Given the description of an element on the screen output the (x, y) to click on. 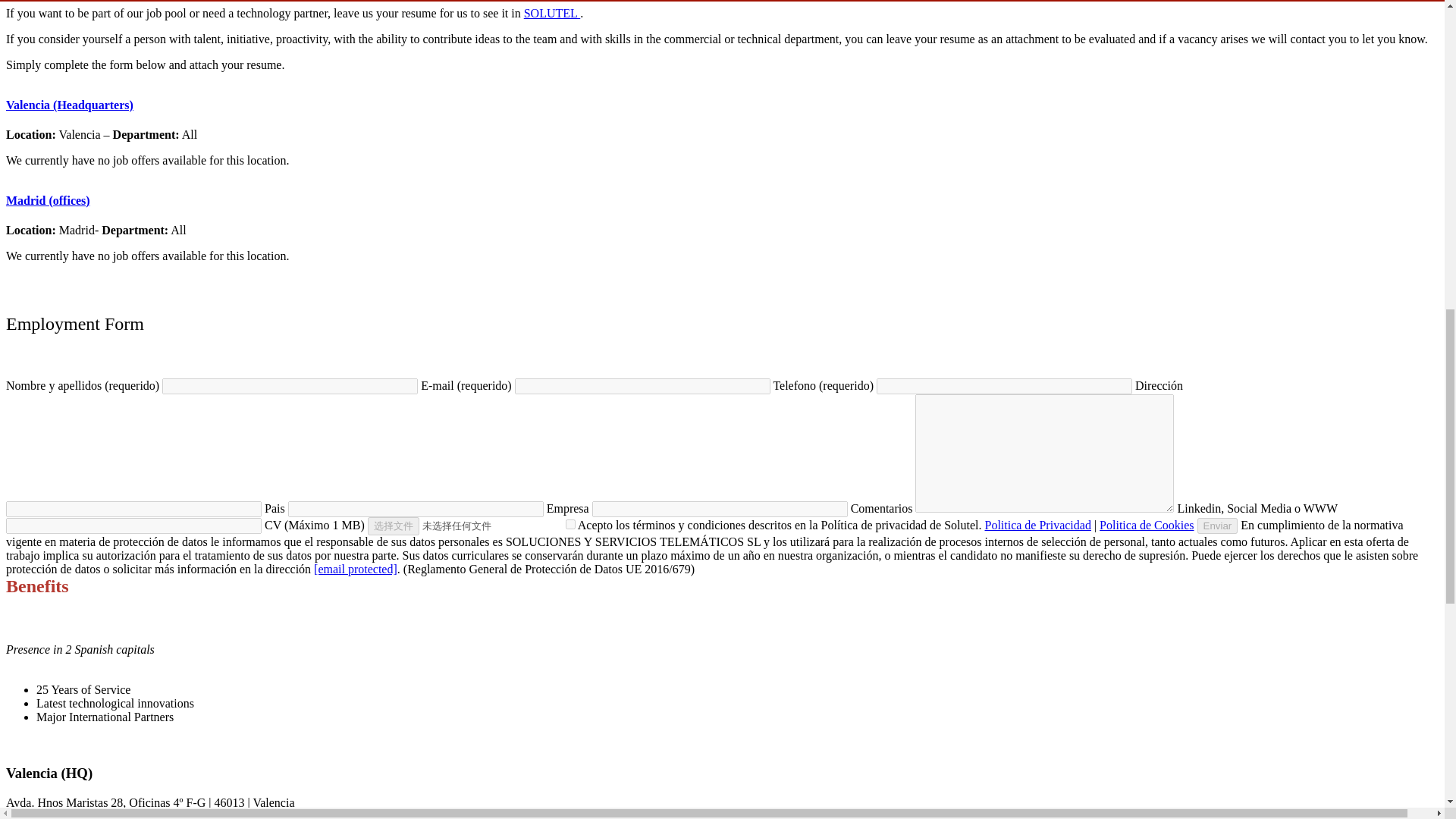
SOLUTEL (552, 12)
Politica de Privacidad (1037, 524)
Enviar (1217, 525)
Enviar (1217, 525)
Politica de Cookies (1146, 524)
